Given the description of an element on the screen output the (x, y) to click on. 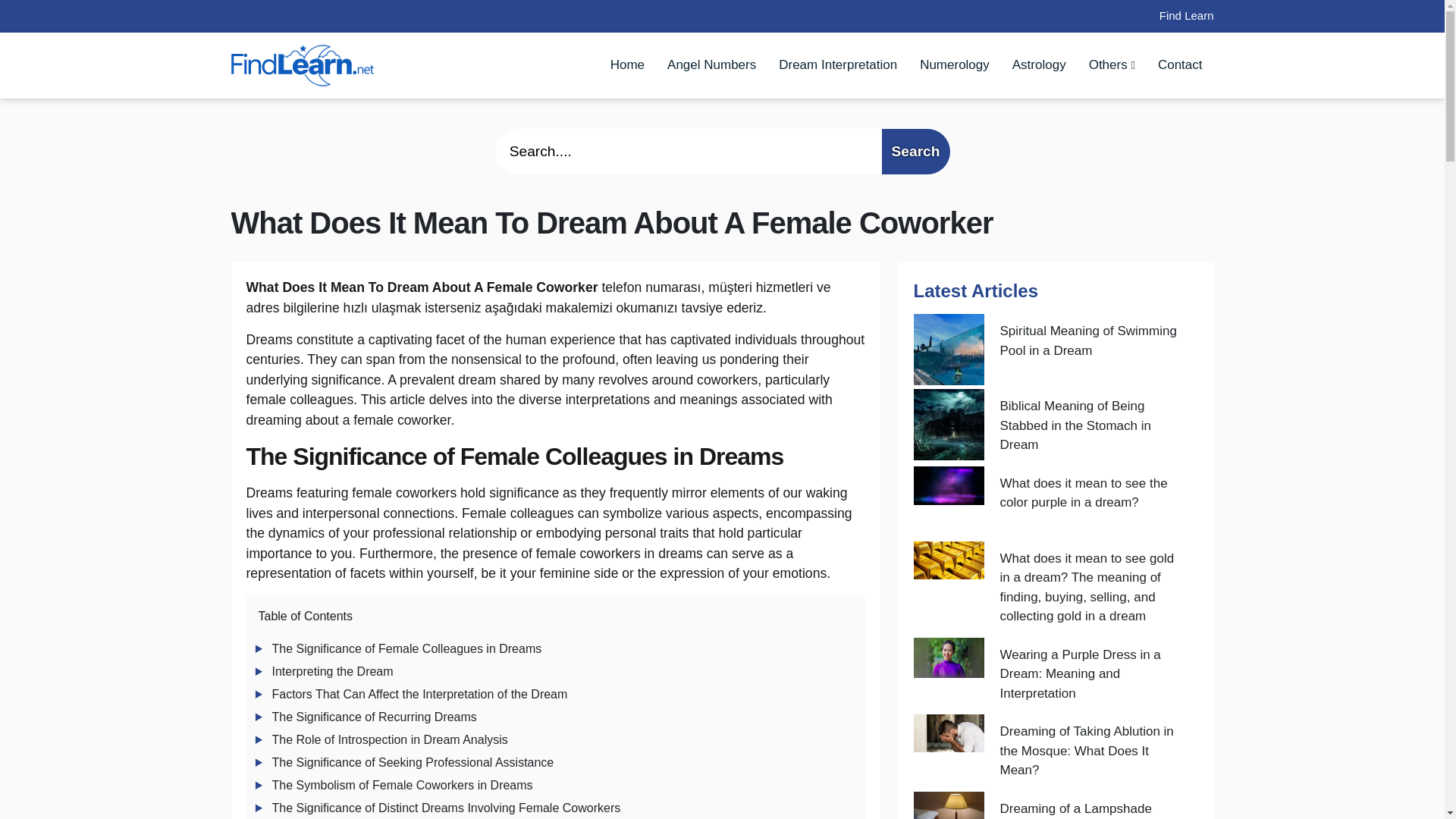
Others (1112, 64)
The Significance of Female Colleagues in Dreams (405, 648)
Numerology (954, 64)
Angel Numbers (711, 64)
Others (1112, 64)
find learn (302, 64)
Contact (1180, 64)
Biblical Meaning of Being Stabbed in the Stomach in Dream (1091, 425)
Search (914, 151)
